Given the description of an element on the screen output the (x, y) to click on. 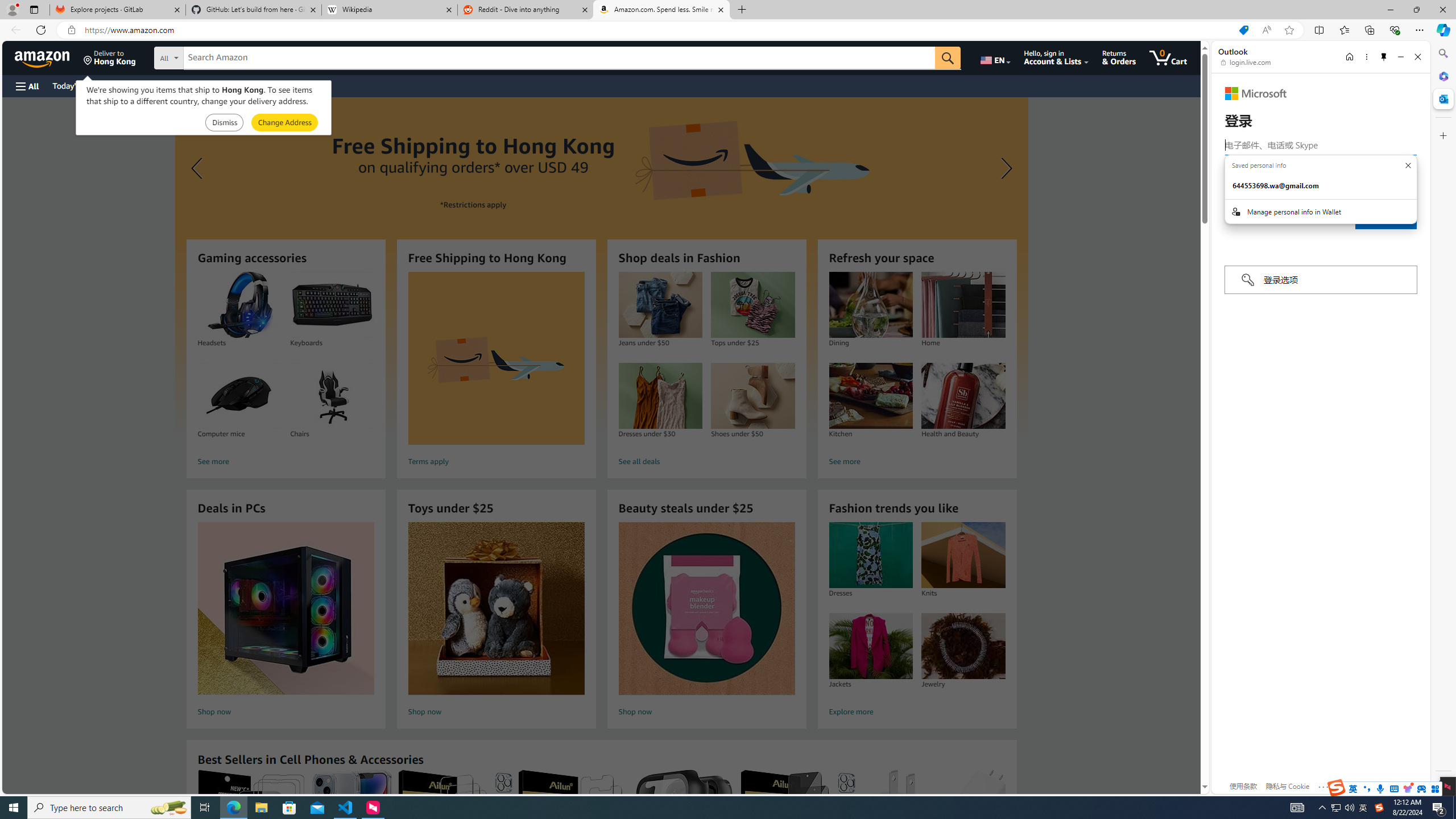
Dresses (870, 555)
Headsets (239, 304)
Skip to main content (48, 56)
Deliver to Hong Kong (109, 57)
Explore more (917, 712)
Dresses under $30 (660, 395)
Knits (963, 555)
